Given the description of an element on the screen output the (x, y) to click on. 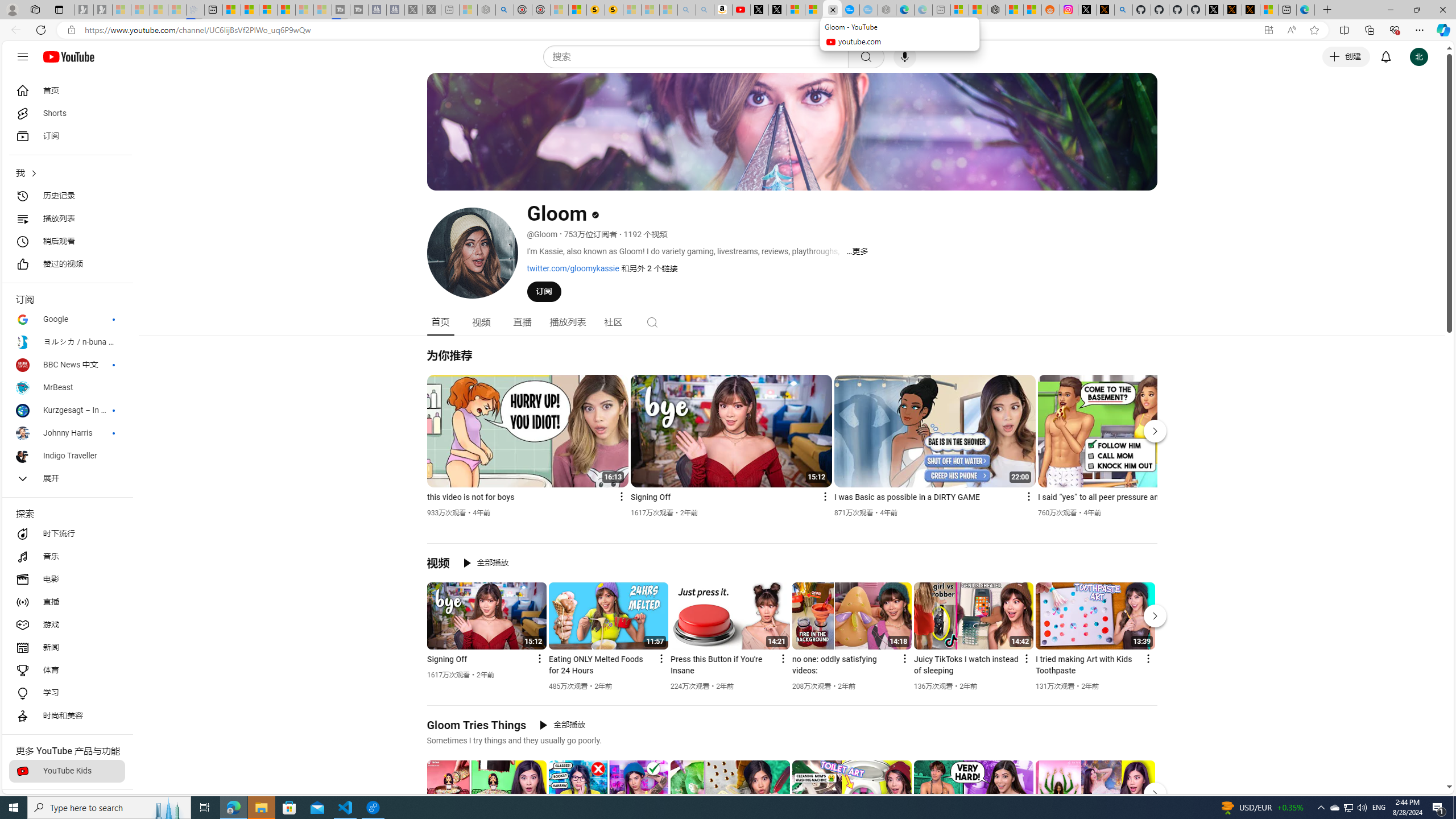
Tab actions menu (58, 9)
Profile / X (1214, 9)
MrBeast (66, 387)
Microsoft account | Microsoft Account Privacy Settings (960, 9)
Indigo Traveller (66, 455)
